Given the description of an element on the screen output the (x, y) to click on. 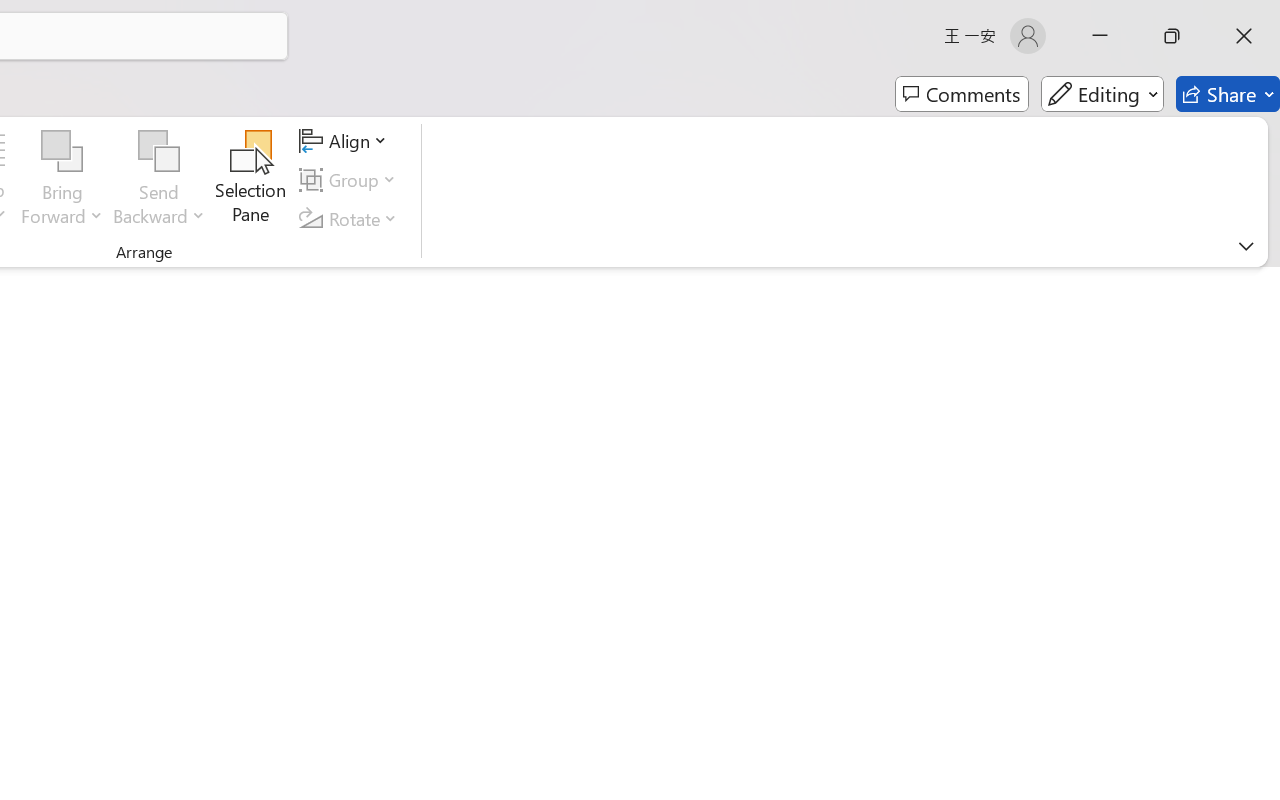
Minimize (1099, 36)
Rotate (351, 218)
